Given the description of an element on the screen output the (x, y) to click on. 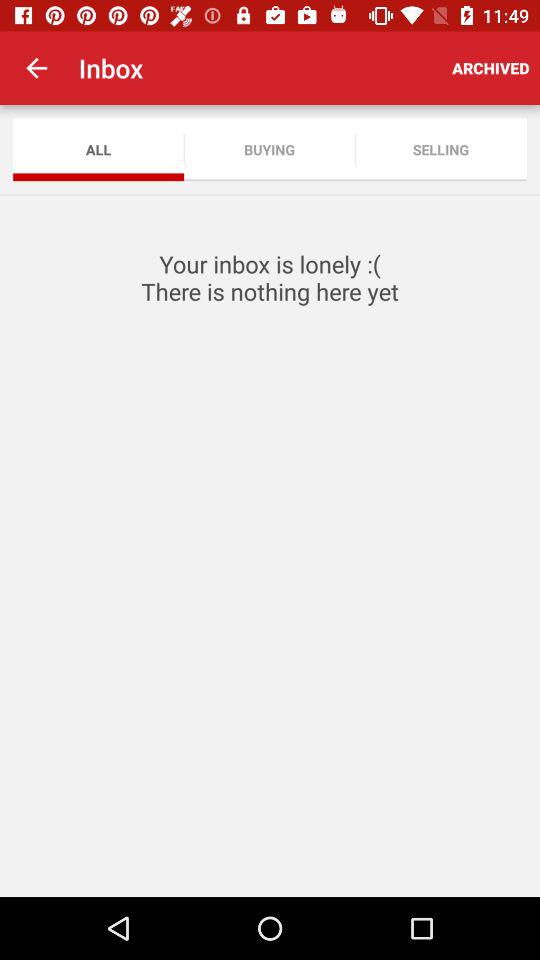
open icon next to selling app (269, 149)
